Given the description of an element on the screen output the (x, y) to click on. 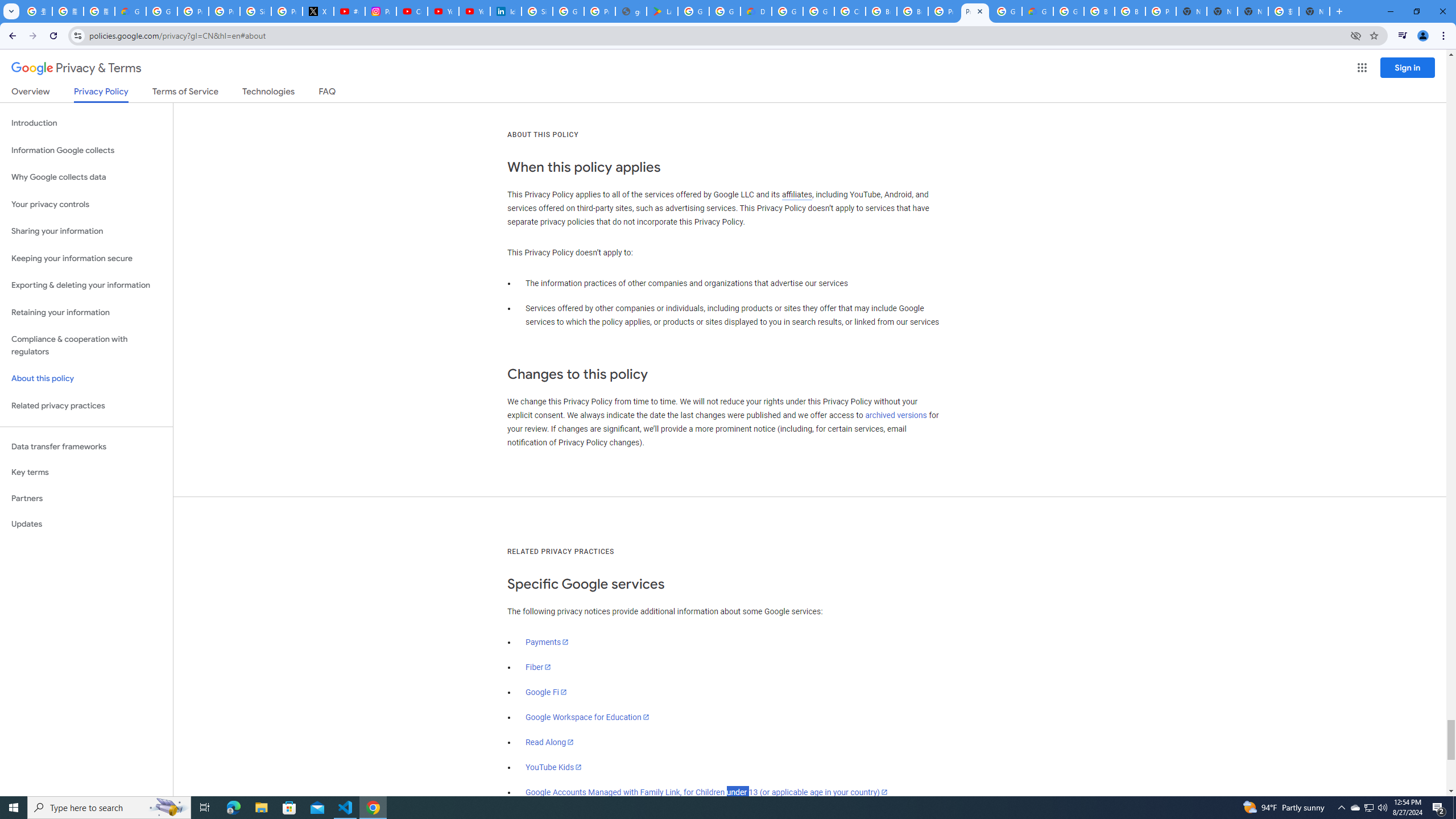
google_privacy_policy_en.pdf (631, 11)
Compliance & cooperation with regulators (86, 345)
New Tab (1190, 11)
Google Fi (545, 691)
affiliates (796, 194)
Browse Chrome as a guest - Computer - Google Chrome Help (1129, 11)
Partners (86, 497)
Google Workspace - Specific Terms (724, 11)
FAQ (327, 93)
